Given the description of an element on the screen output the (x, y) to click on. 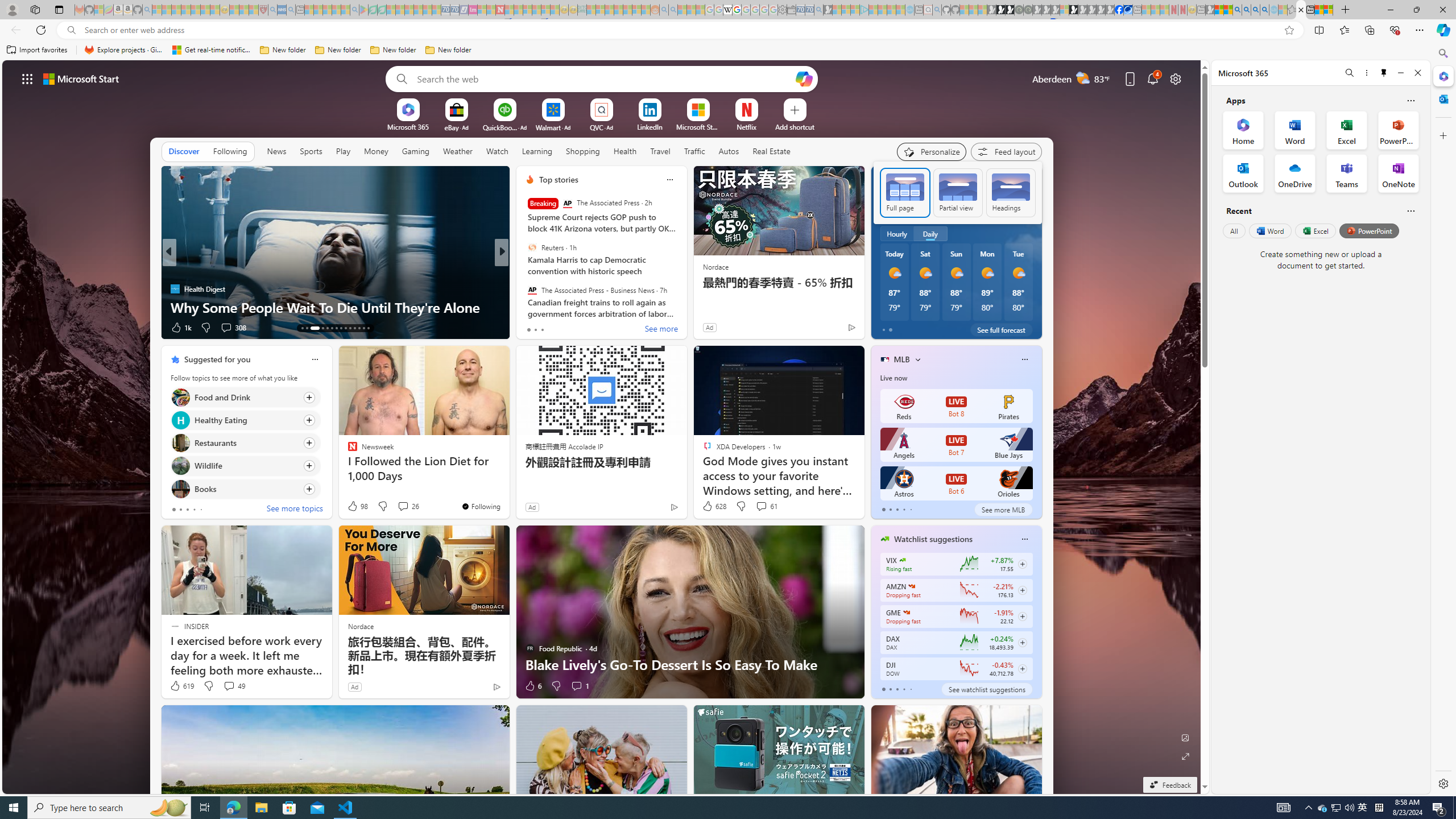
Utah sues federal government - Search - Sleeping (672, 9)
Dagens News (US) (524, 288)
98 Like (357, 505)
tab-0 (882, 689)
View comments 2 Comment (580, 327)
Real Estate (771, 151)
More interests (917, 359)
View comments 308 Comment (232, 327)
